Given the description of an element on the screen output the (x, y) to click on. 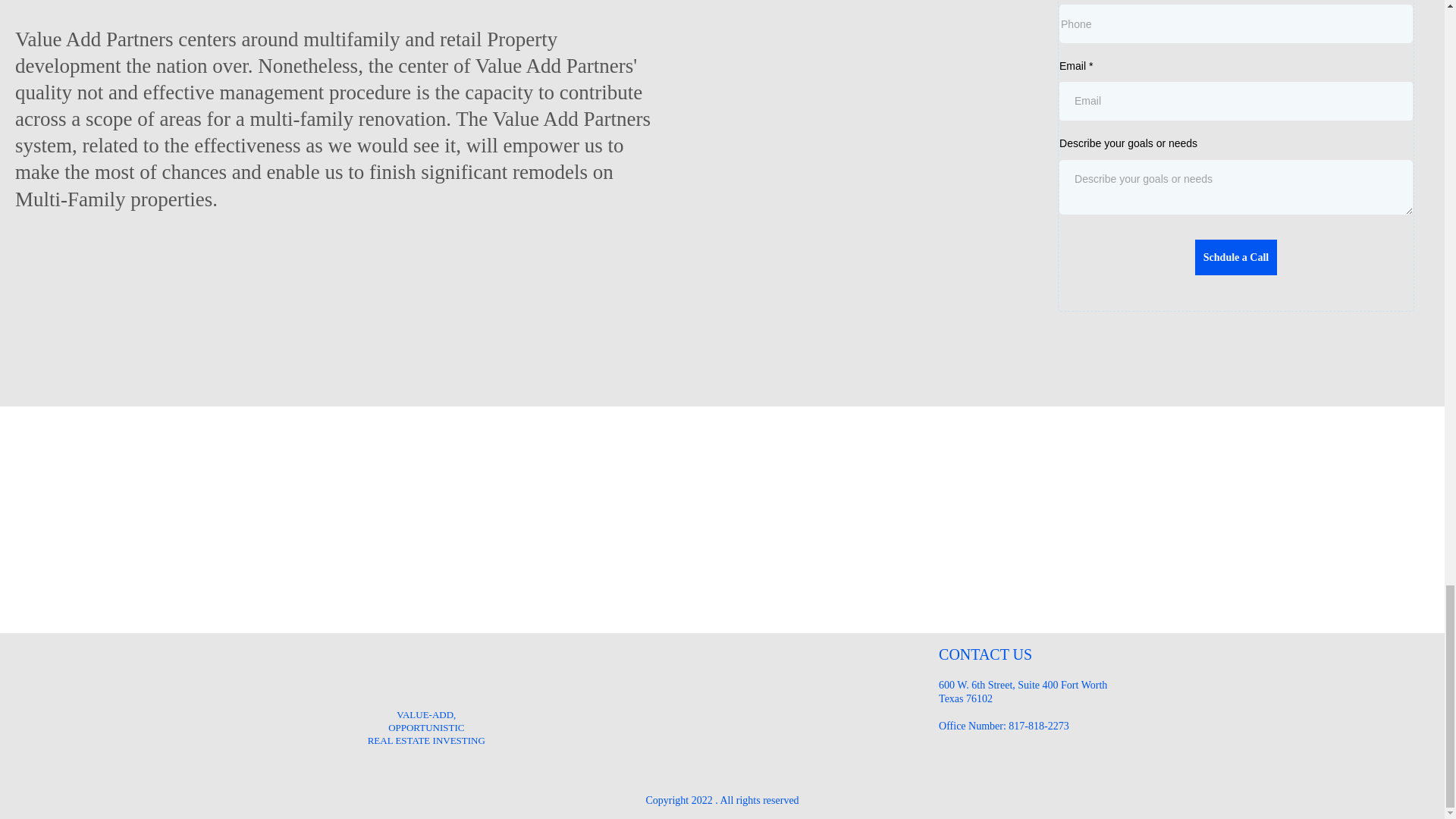
Schdule a Call (1235, 257)
